Given the description of an element on the screen output the (x, y) to click on. 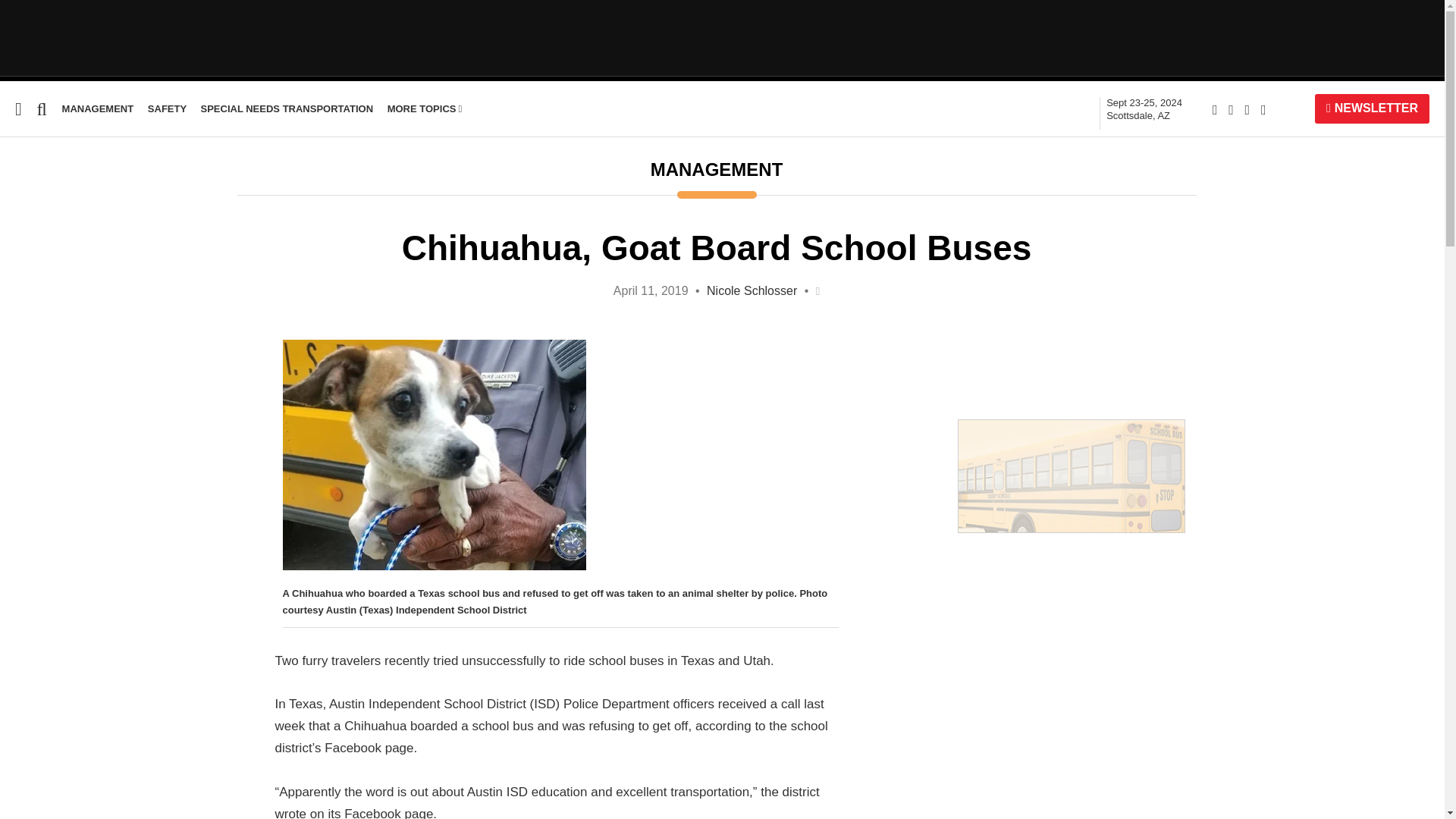
Management (97, 108)
MANAGEMENT (97, 108)
MORE TOPICS (425, 108)
Alternative Fuels (50, 236)
Sept 23-25, 2024 (1144, 109)
Special Needs Transportation (88, 206)
Safety (167, 108)
SAFETY (167, 108)
Special Needs Transportation (88, 206)
SPECIAL NEEDS TRANSPORTATION (287, 108)
